Given the description of an element on the screen output the (x, y) to click on. 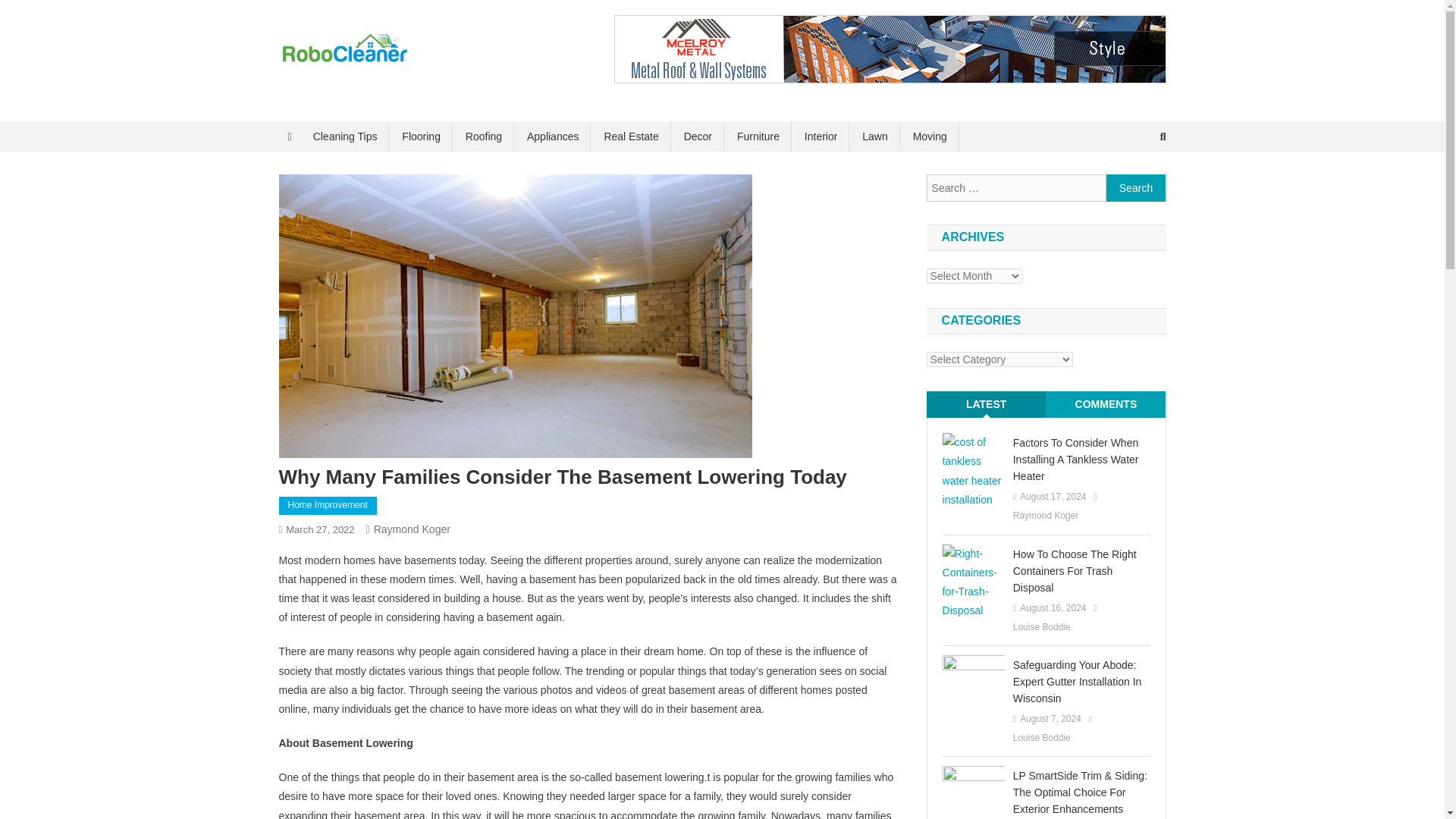
LATEST (986, 404)
Raymond Koger (411, 529)
robo-cleaner (352, 79)
Moving (930, 136)
Real Estate (630, 136)
Flooring (421, 136)
Home Improvement (328, 505)
Cleaning Tips (345, 136)
Decor (697, 136)
Search (1136, 187)
